Given the description of an element on the screen output the (x, y) to click on. 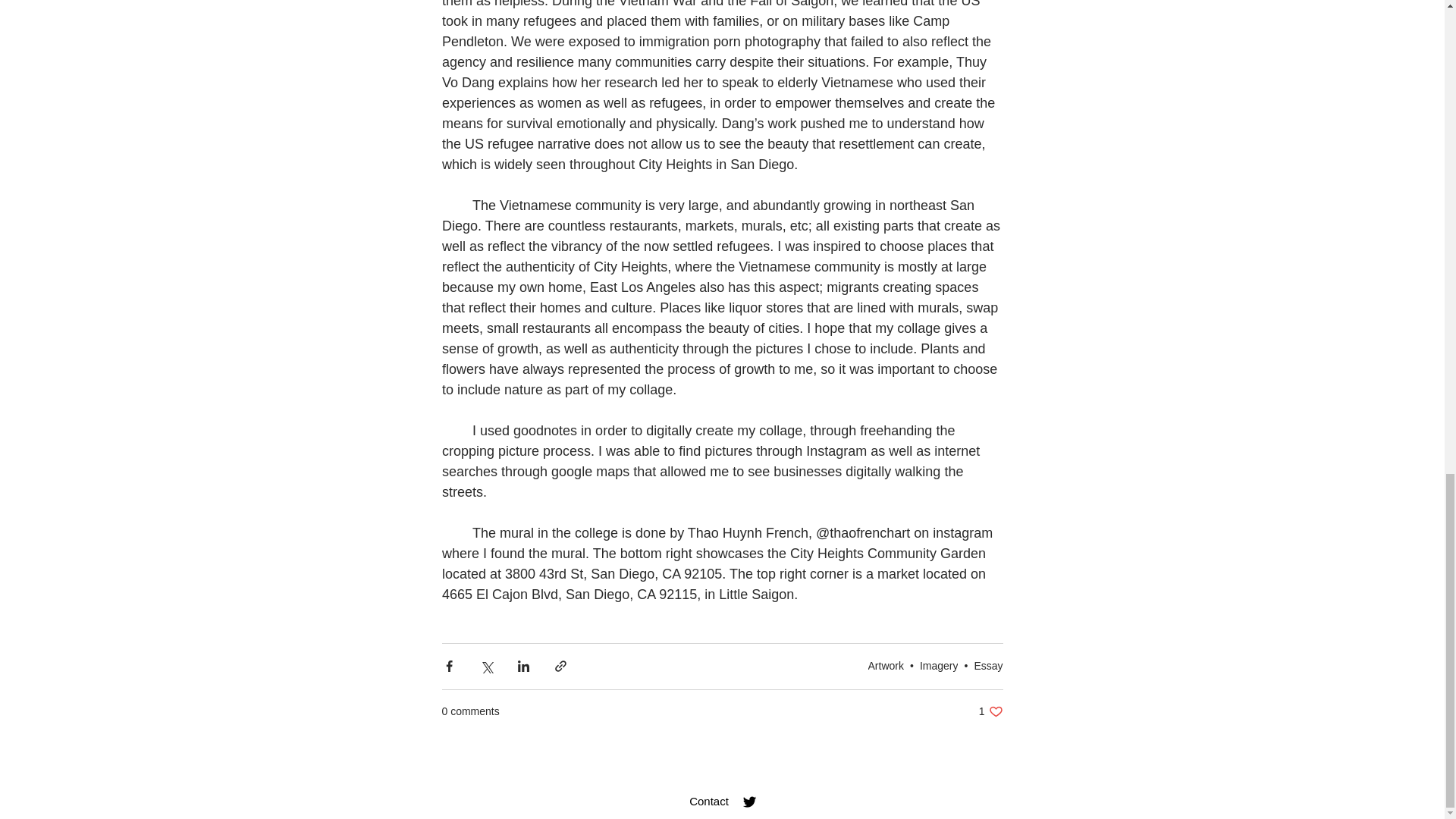
Essay (988, 665)
Contact (708, 800)
Artwork (885, 665)
Imagery (939, 665)
